Given the description of an element on the screen output the (x, y) to click on. 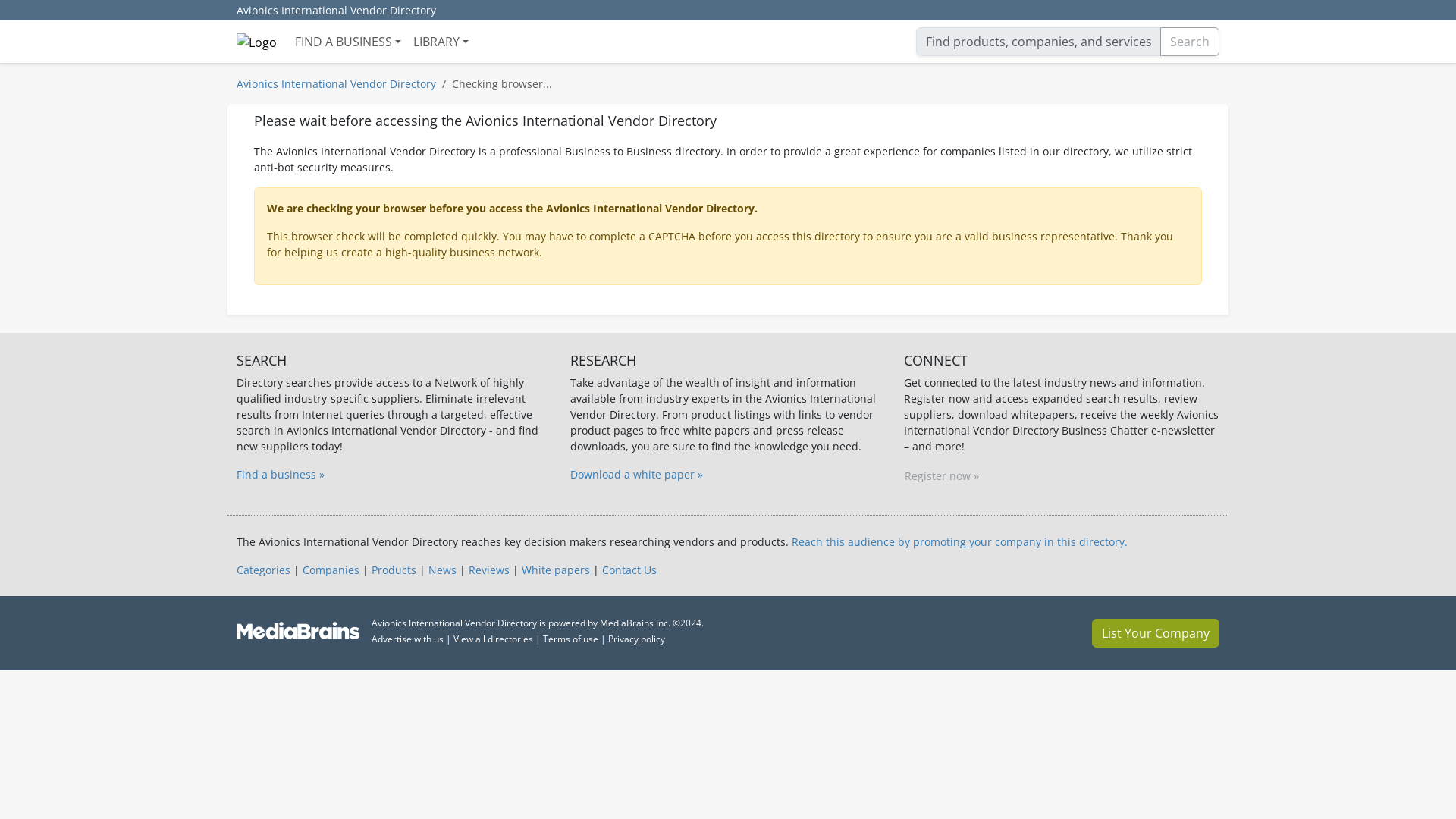
Terms of use (570, 638)
Avionics International Vendor Directory (335, 83)
White papers (555, 569)
Companies (330, 569)
Avionics International Vendor Directory (336, 10)
Contact Us (629, 569)
Reviews (488, 569)
Search (1190, 41)
View all directories (492, 638)
List Your Company (1156, 633)
